Given the description of an element on the screen output the (x, y) to click on. 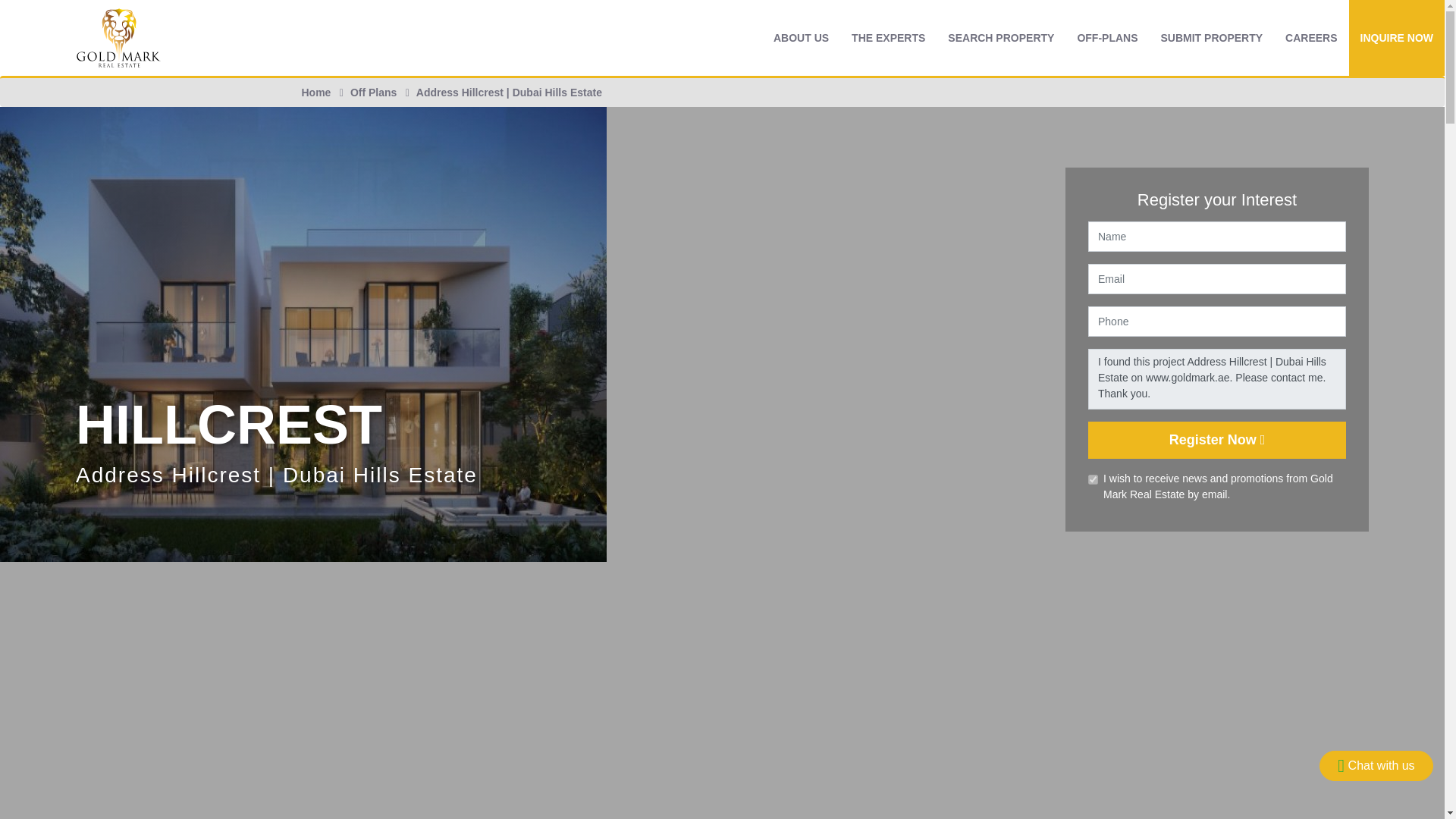
Submit Property (1212, 38)
SEARCH PROPERTY (1000, 38)
CAREERS (1311, 38)
SUBMIT PROPERTY (1212, 38)
Gold Mark Real Estate (118, 36)
OFF-PLANS (1106, 38)
Career Opportunity (1311, 38)
Search Property (1000, 38)
About Us (800, 38)
Register Now (1216, 439)
on (1092, 479)
Off Plans (1106, 38)
Home (316, 92)
ABOUT US (800, 38)
THE EXPERTS (888, 38)
